Given the description of an element on the screen output the (x, y) to click on. 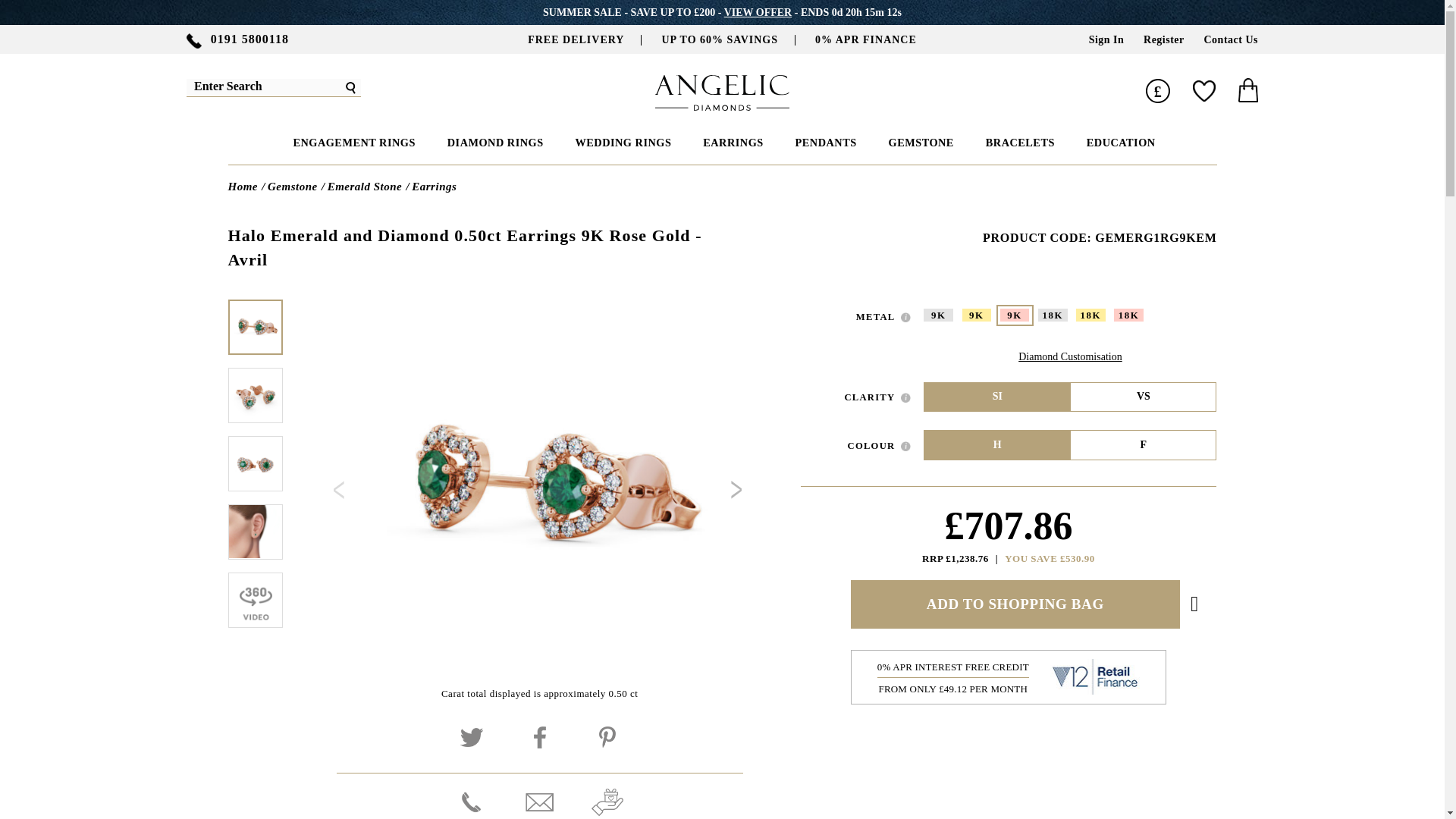
Register (1163, 39)
Sign In (1106, 39)
Contact Us (1231, 39)
ENGAGEMENT RINGS (352, 142)
Submit (350, 87)
ENGAGEMENT RINGS (352, 142)
VIEW OFFER (757, 11)
Contact Us (1231, 39)
Register (1163, 39)
Sign In (1106, 39)
Angelic Diamonds (722, 106)
VIEW OUR OFFER (757, 11)
